Given the description of an element on the screen output the (x, y) to click on. 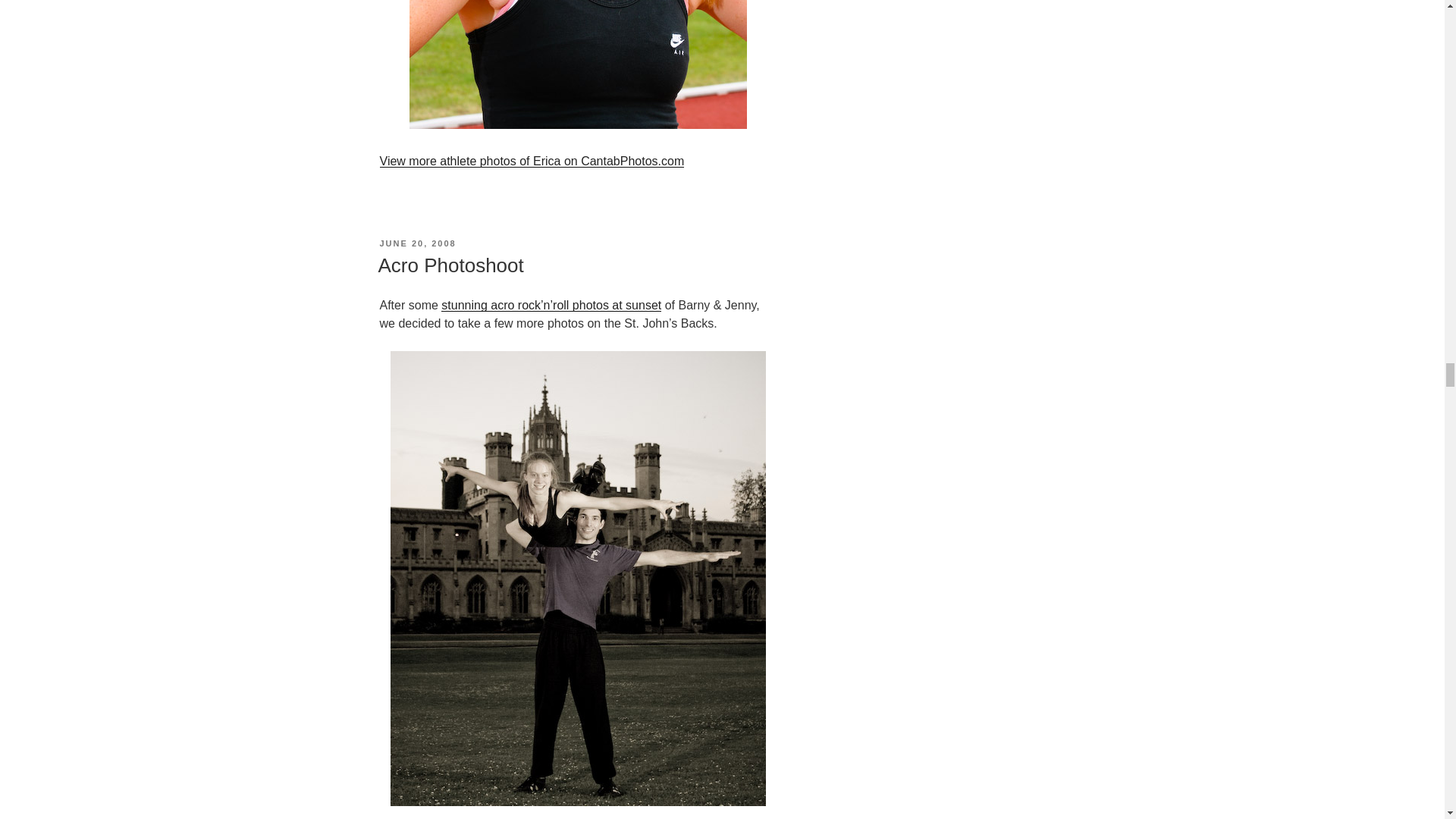
View more athlete photos of Erica on CantabPhotos.com (531, 160)
Acro Photoshoot (449, 264)
Erica - Sportrait (577, 64)
JUNE 20, 2008 (416, 243)
